Given the description of an element on the screen output the (x, y) to click on. 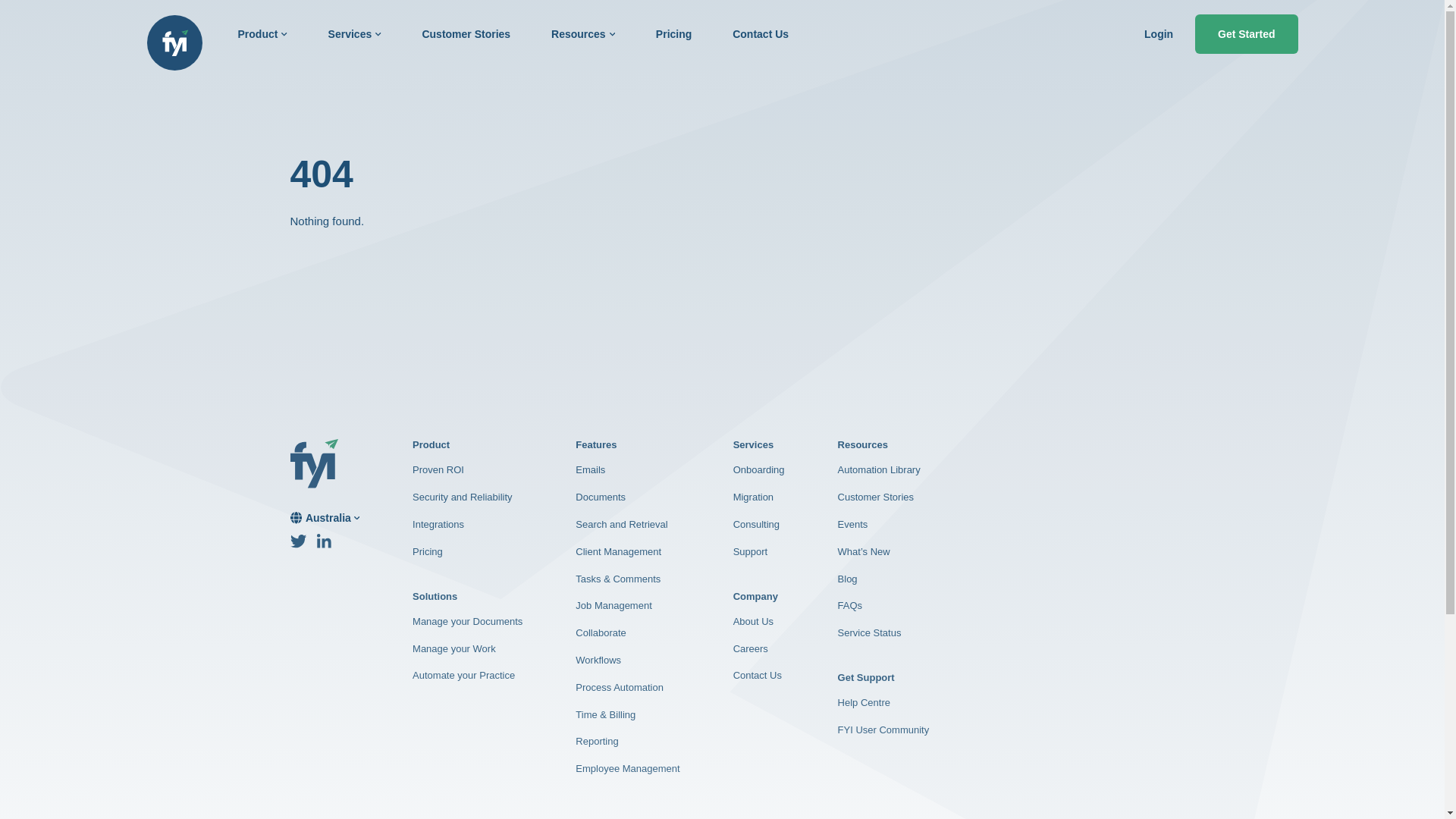
Pricing (673, 33)
Login (1158, 33)
Get Started (1246, 34)
Customer Stories (466, 33)
Resources (582, 33)
Product (262, 33)
Contact Us (760, 33)
Services (355, 33)
